Given the description of an element on the screen output the (x, y) to click on. 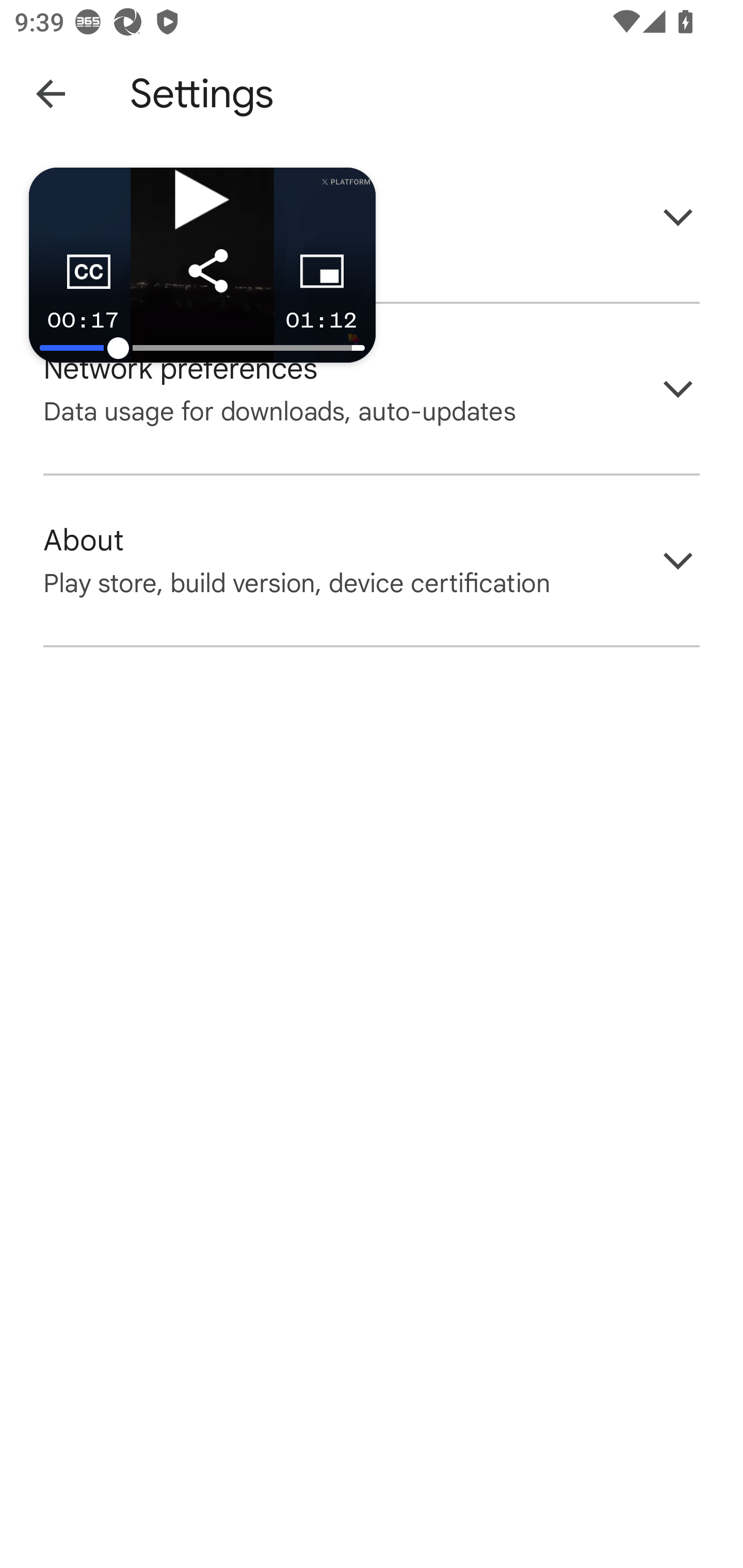
Navigate up (50, 93)
